Given the description of an element on the screen output the (x, y) to click on. 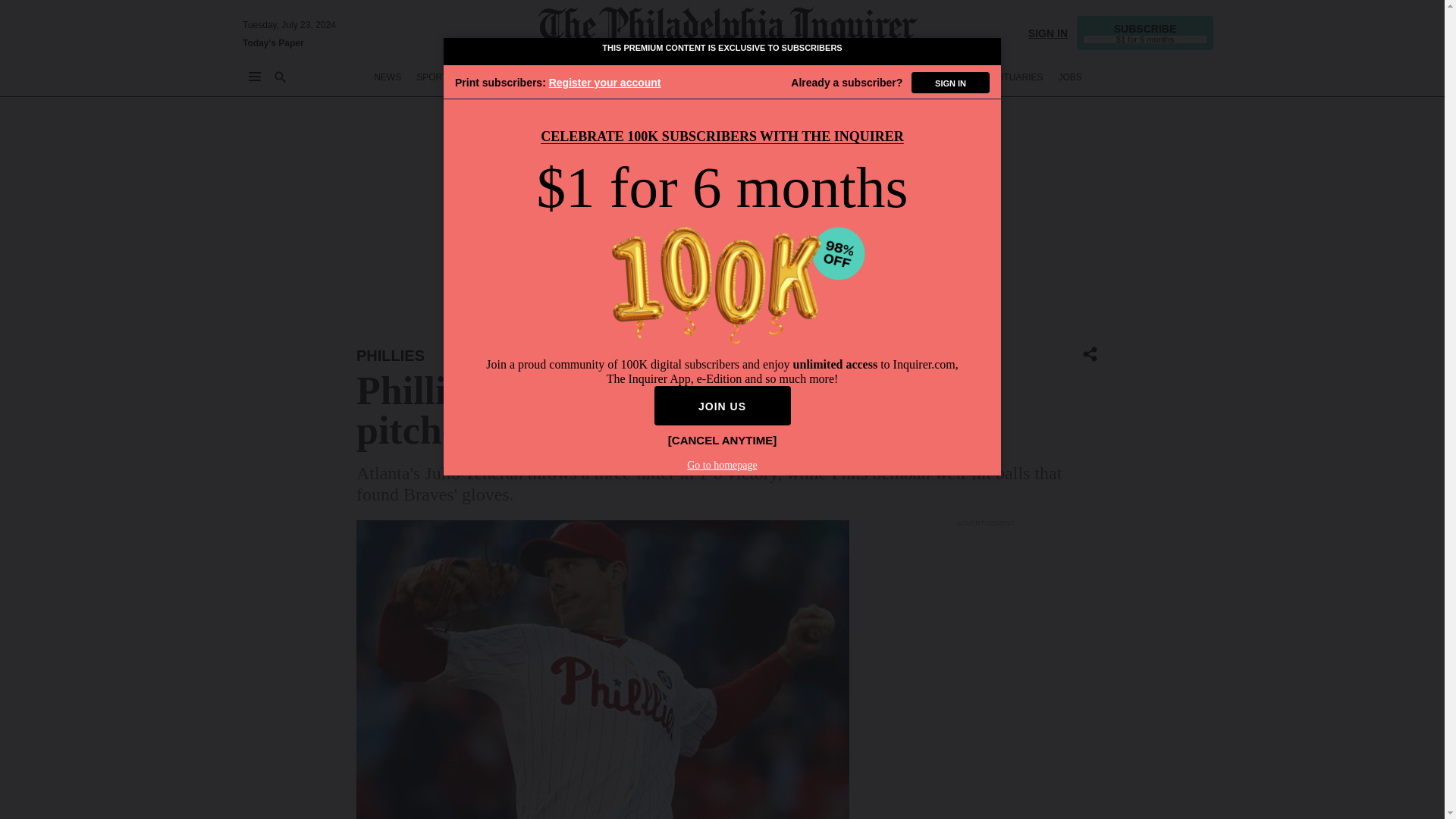
SIGN IN (1047, 32)
SUBSCRIBE (1144, 32)
Phillies (390, 355)
POLITICS (659, 77)
Share Icon (1090, 354)
OPINION (604, 77)
BETTING (488, 77)
HEALTH (878, 77)
LIFE (795, 77)
BUSINESS (545, 77)
JOBS (1069, 77)
PHILLIES (390, 355)
ENTERTAINMENT (732, 77)
Today's Paper (273, 42)
NEWS (387, 77)
